Given the description of an element on the screen output the (x, y) to click on. 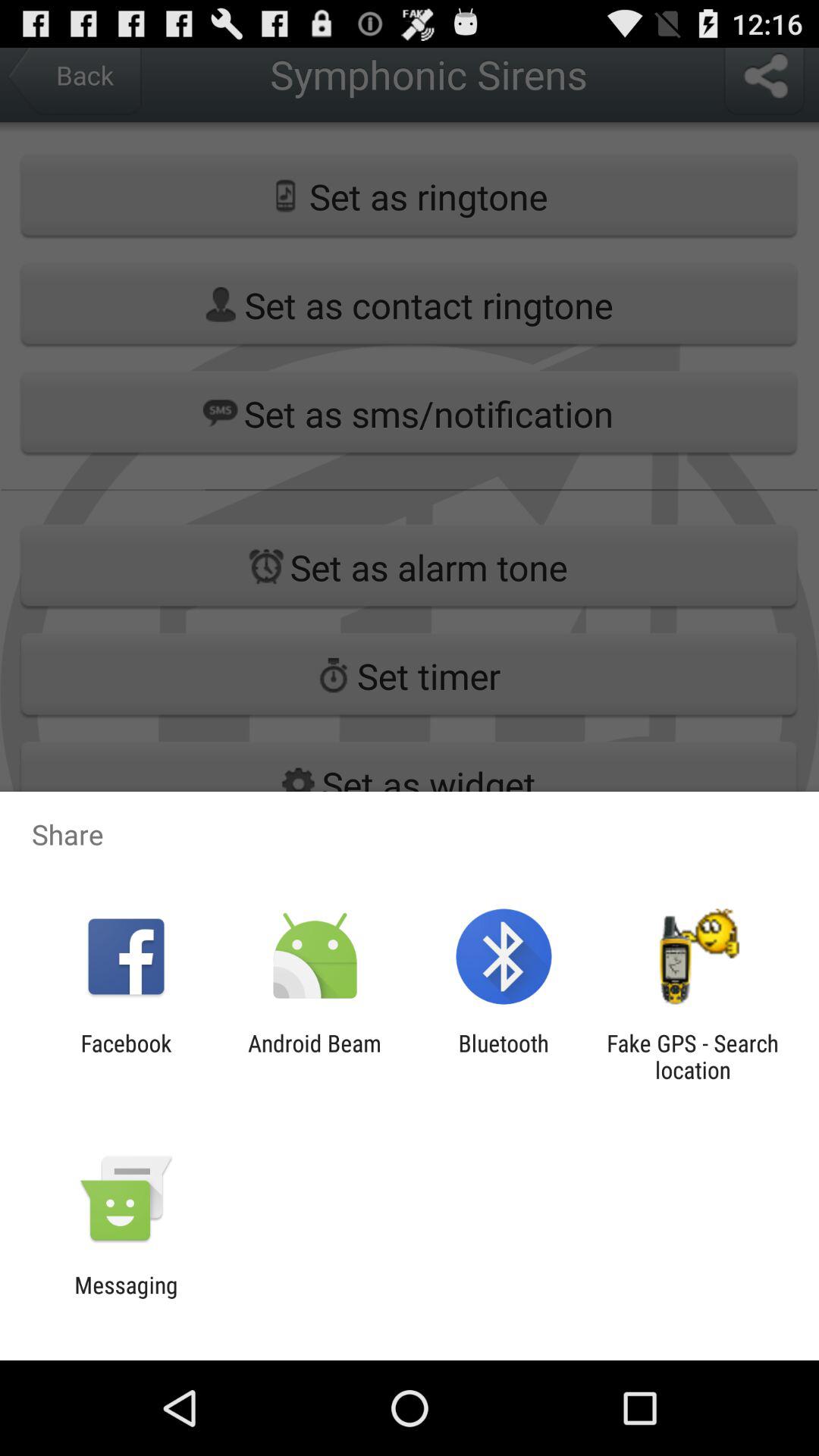
press the fake gps search at the bottom right corner (692, 1056)
